Given the description of an element on the screen output the (x, y) to click on. 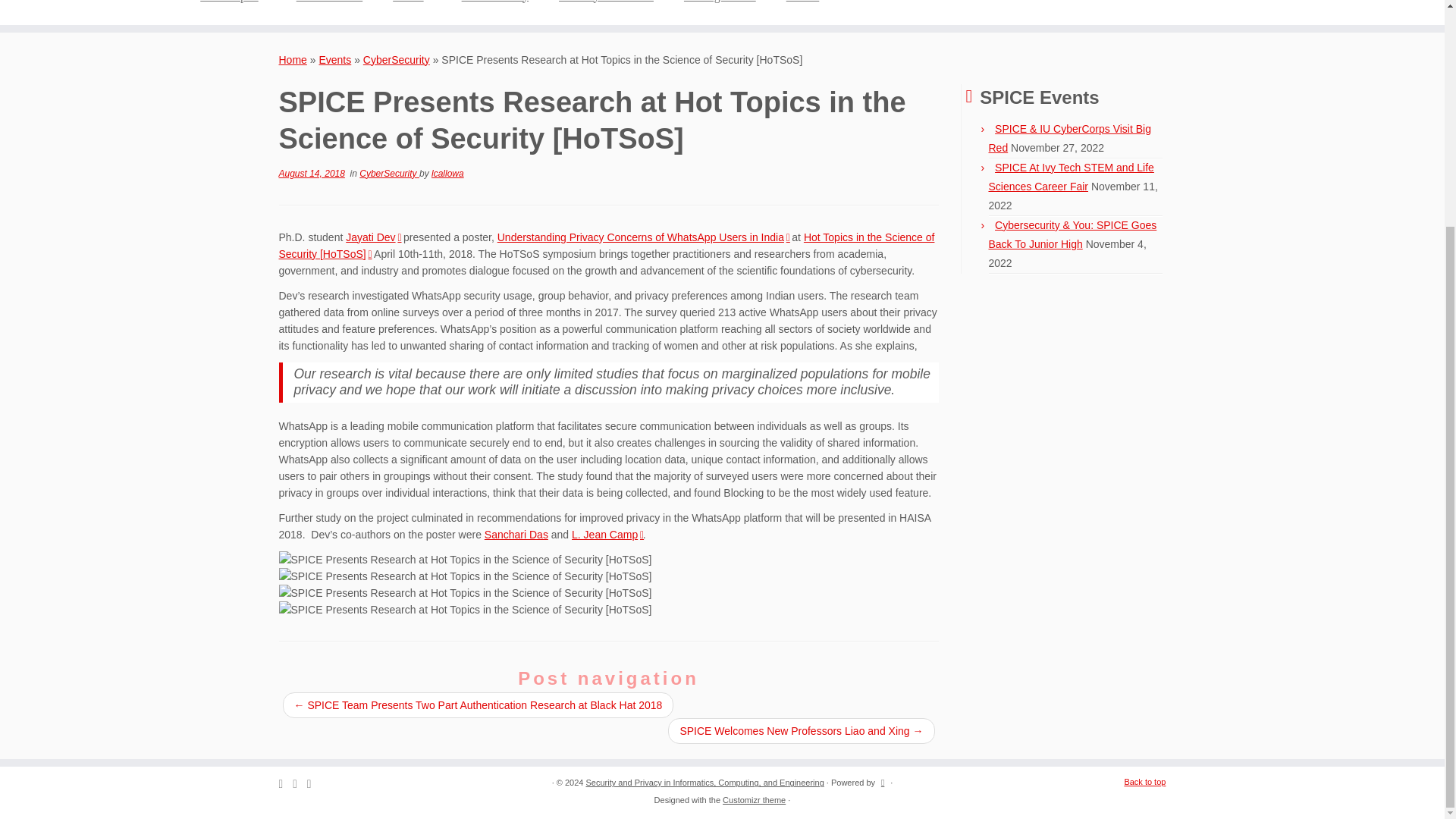
Home (293, 60)
Ph.D. (411, 4)
August 14, 2018 (312, 173)
L. Jean Camp (607, 534)
CyberSecurity (389, 173)
Customizr theme (754, 800)
CyberSecurity (395, 60)
Security Certificate (605, 4)
Events (334, 60)
Understanding Privacy Concerns of WhatsApp Users in India (643, 236)
Events (802, 4)
SPICE At Ivy Tech STEM and Life Sciences Career Fair (1071, 176)
Our Research (329, 4)
Sanchari Das (516, 534)
